Given the description of an element on the screen output the (x, y) to click on. 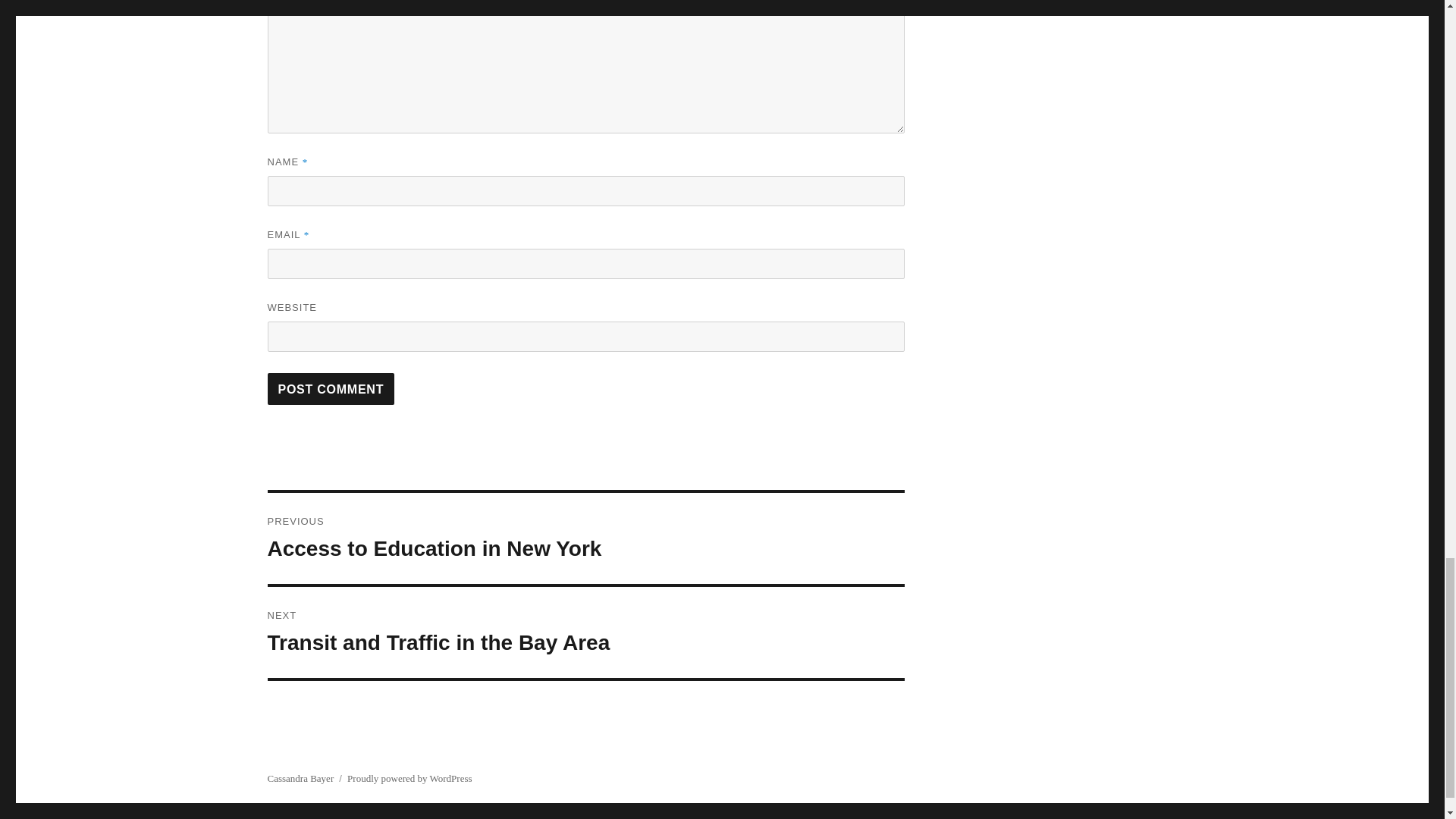
Post Comment (585, 632)
Cassandra Bayer (330, 388)
Post Comment (299, 778)
Proudly powered by WordPress (330, 388)
